Given the description of an element on the screen output the (x, y) to click on. 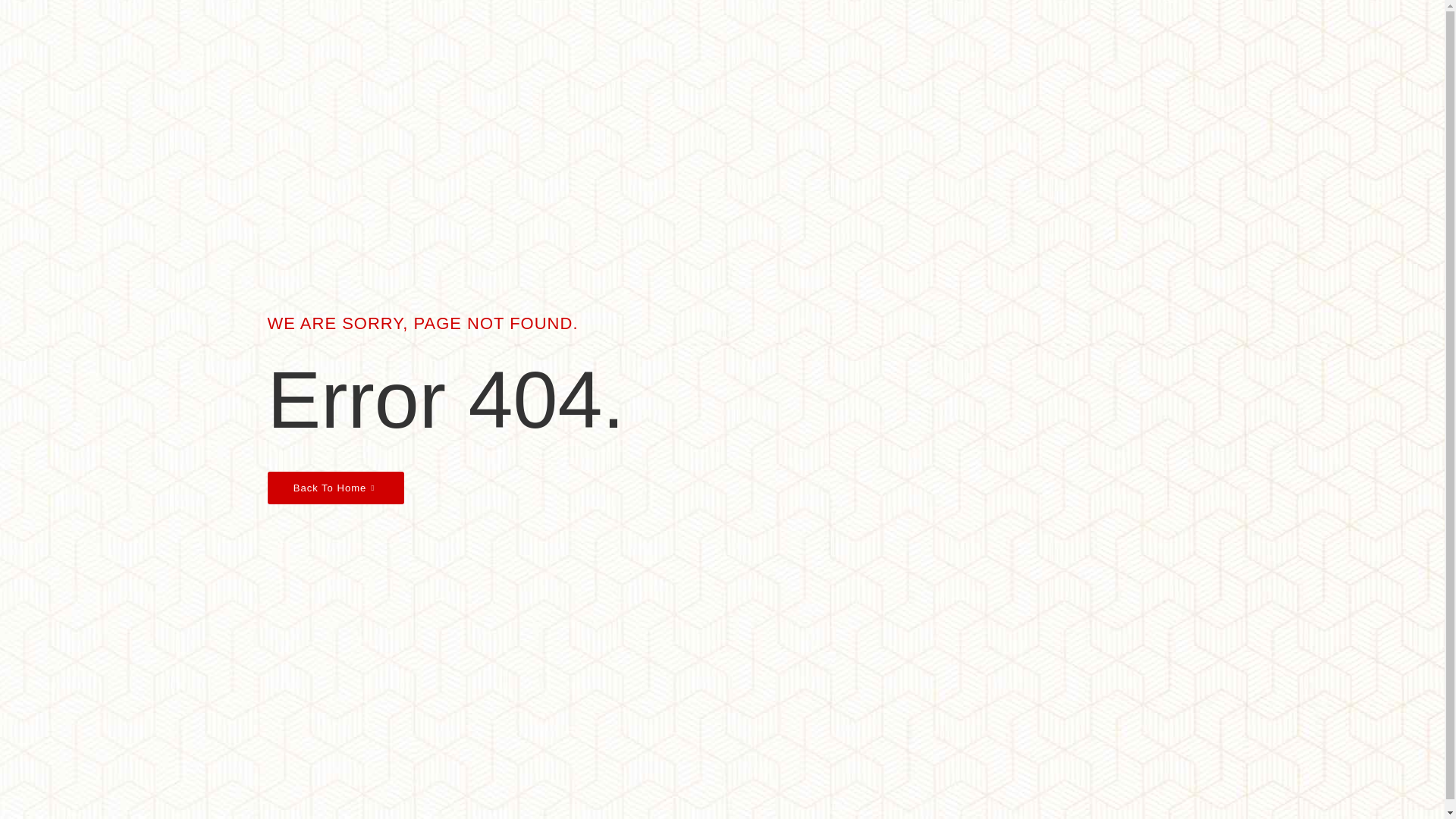
Back To Home (334, 488)
Back To Home (334, 488)
